Given the description of an element on the screen output the (x, y) to click on. 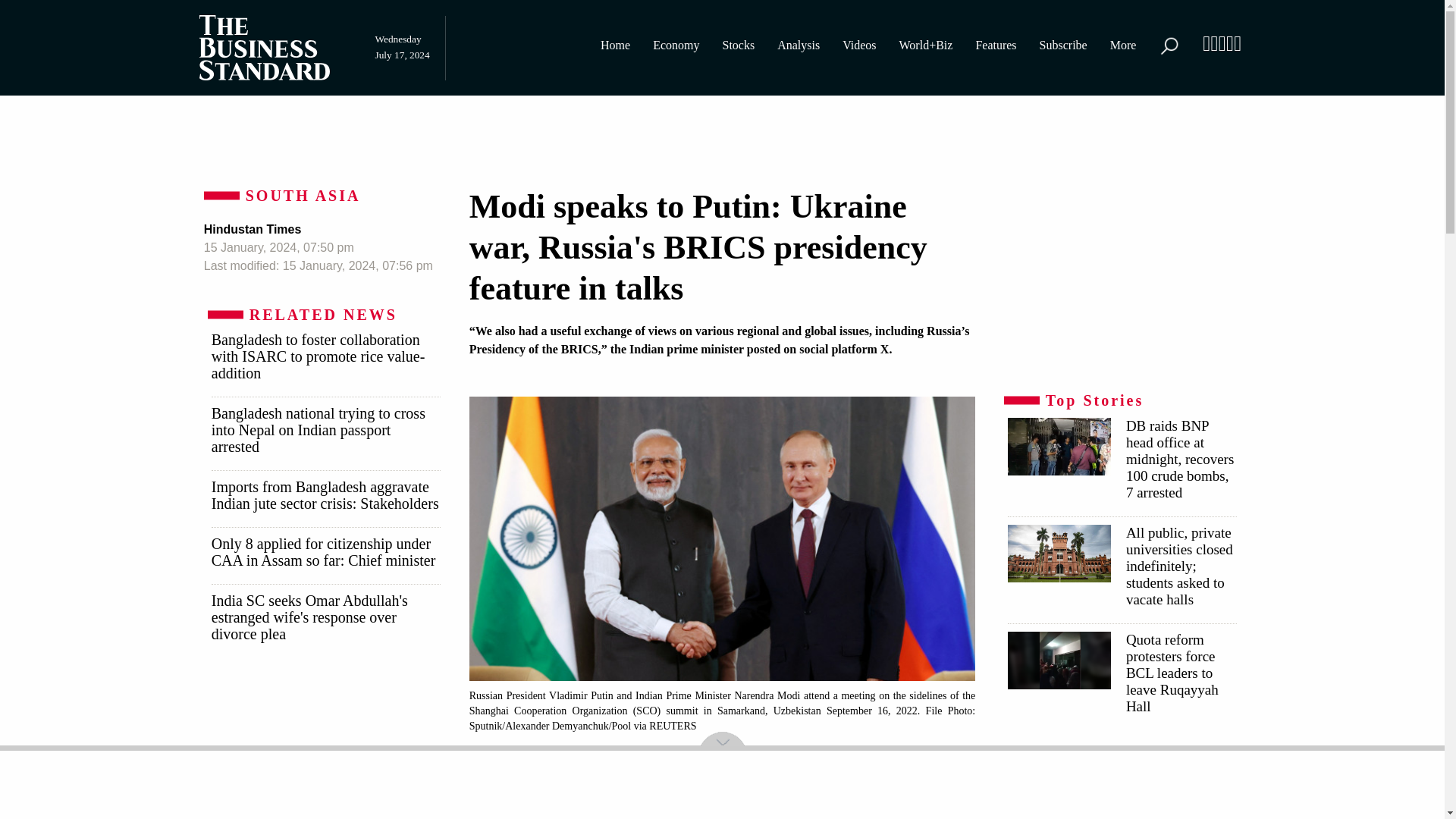
3rd party ad content (1120, 782)
3rd party ad content (1120, 280)
3rd party ad content (722, 137)
3rd party ad content (324, 745)
